Given the description of an element on the screen output the (x, y) to click on. 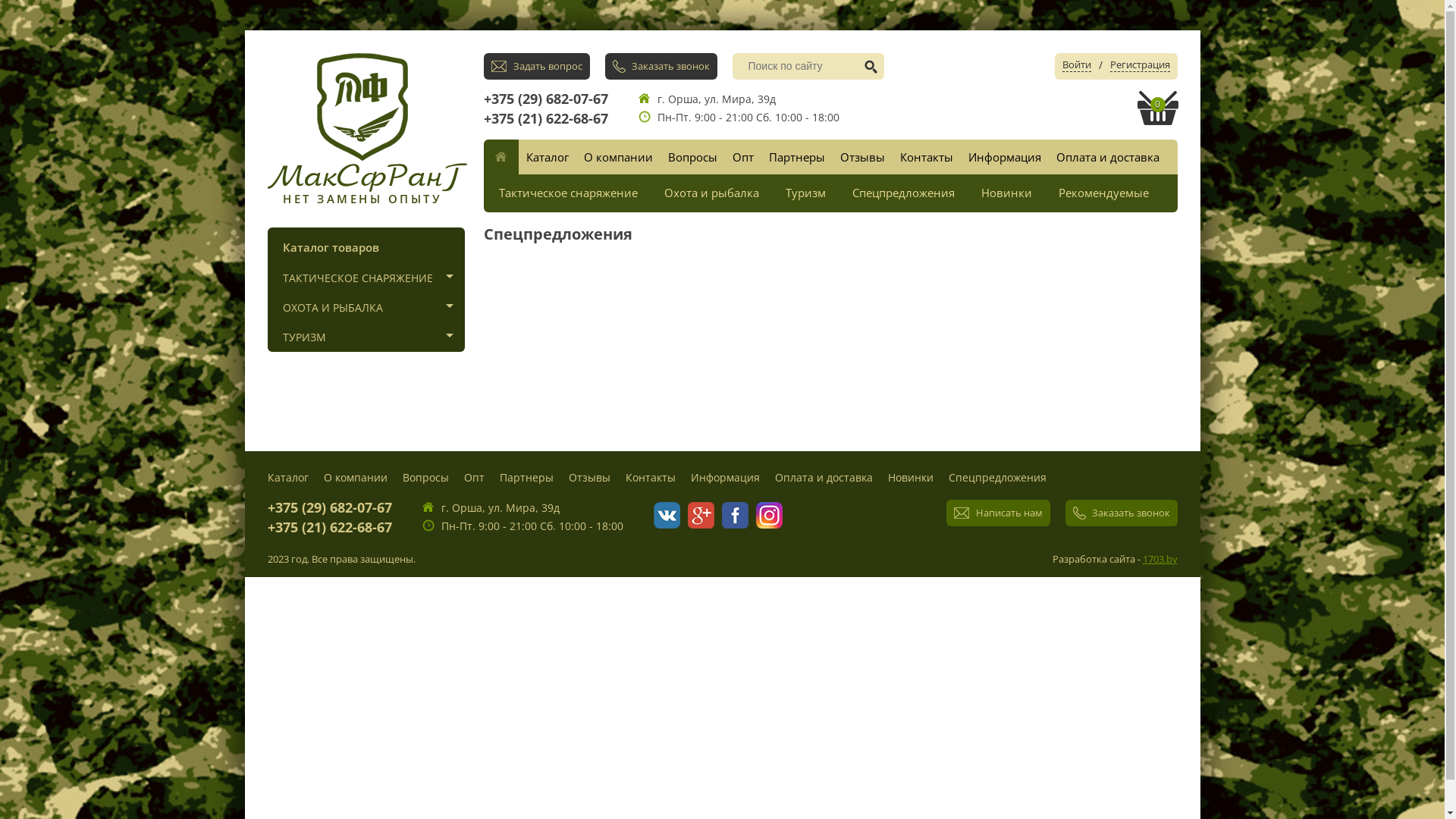
1703.by Element type: text (1159, 558)
Vkontakte Element type: hover (666, 515)
Google+ Element type: hover (700, 515)
Facebook Element type: hover (734, 515)
Instagram Element type: hover (768, 515)
0 Element type: text (1157, 108)
